Given the description of an element on the screen output the (x, y) to click on. 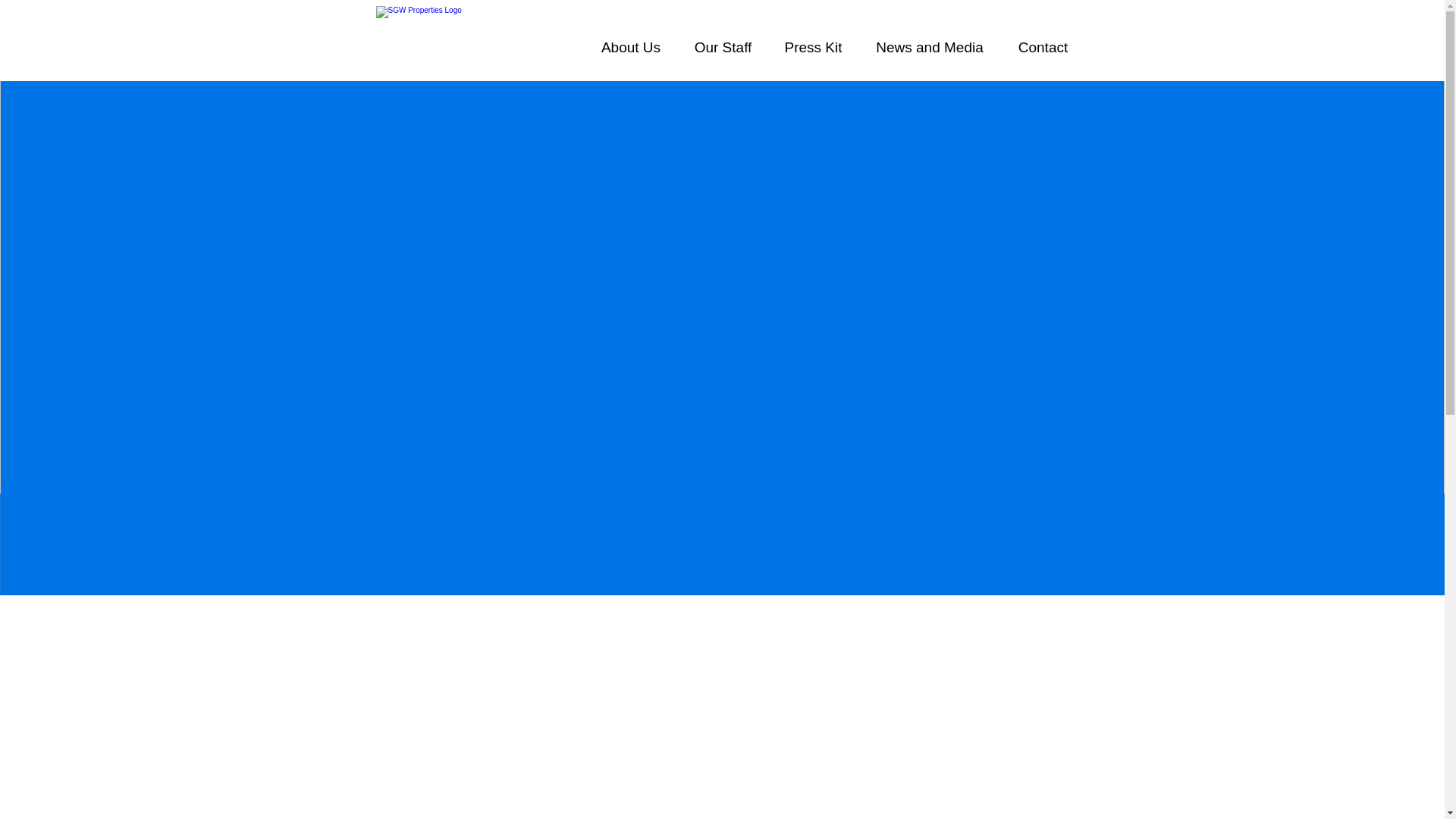
About Us (631, 46)
News and Media (929, 46)
Our Staff (722, 46)
Contact (1042, 46)
Press Kit (812, 46)
